Given the description of an element on the screen output the (x, y) to click on. 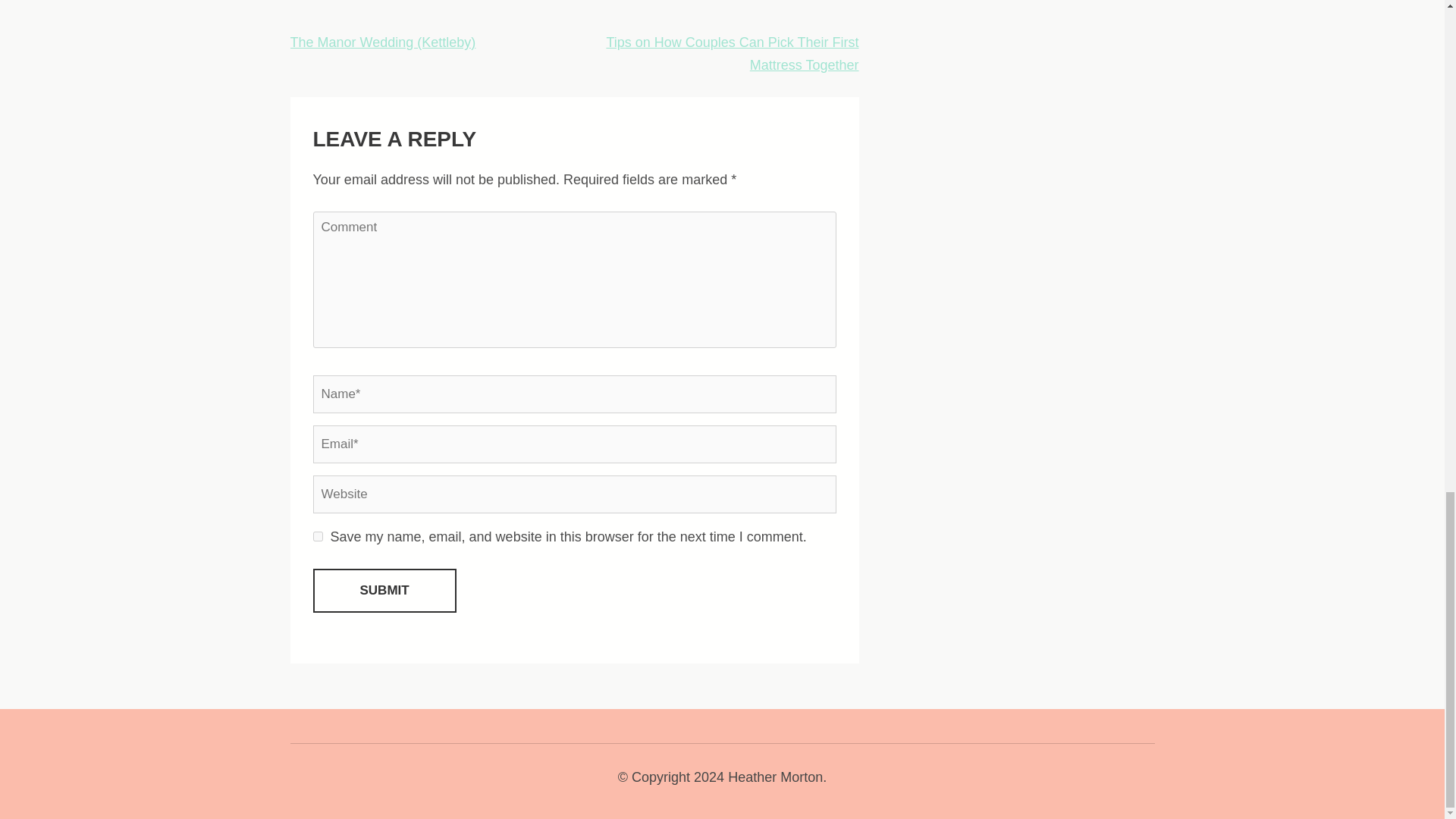
yes (317, 536)
Tips on How Couples Can Pick Their First Mattress Together (732, 53)
Heather Morton (775, 776)
Submit (384, 590)
Submit (384, 590)
